Given the description of an element on the screen output the (x, y) to click on. 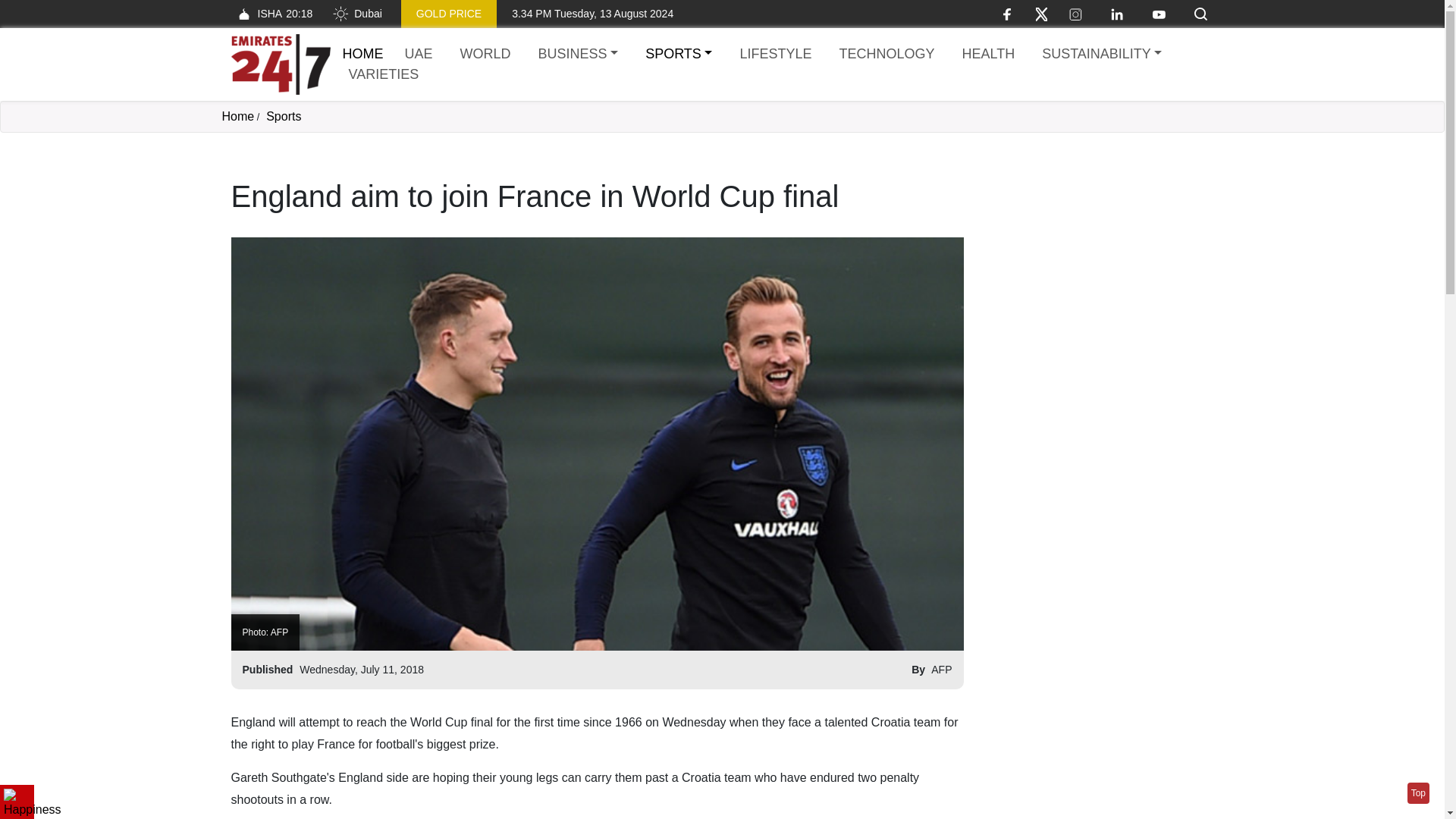
TECHNOLOGY (886, 54)
Go to top (1418, 792)
Home (271, 13)
LIFESTYLE (237, 115)
VARIETIES (774, 54)
SPORTS (383, 74)
Home (678, 54)
SUSTAINABILITY (363, 53)
HEALTH (1101, 54)
